Given the description of an element on the screen output the (x, y) to click on. 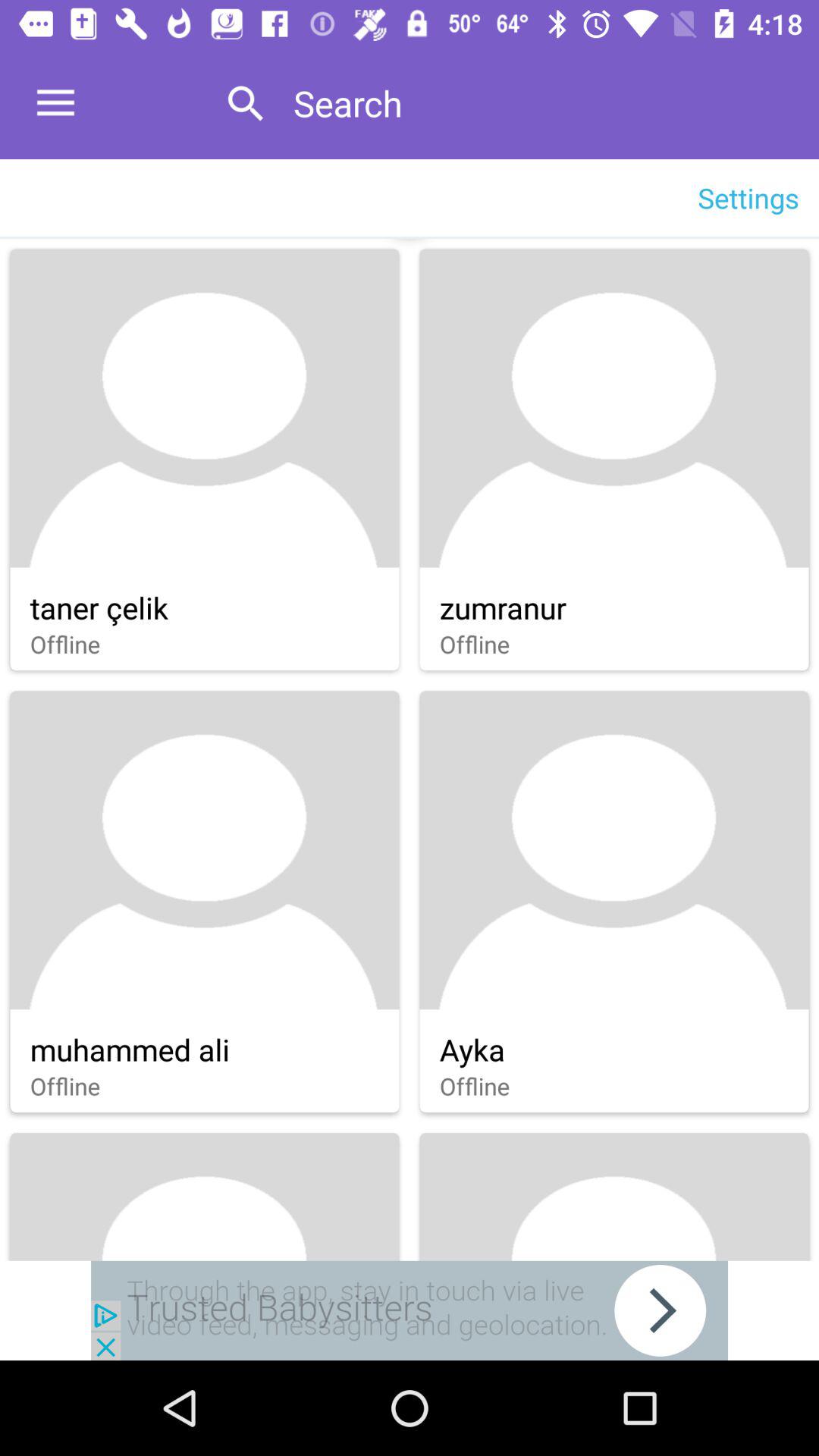
advertisement page (409, 1310)
